Given the description of an element on the screen output the (x, y) to click on. 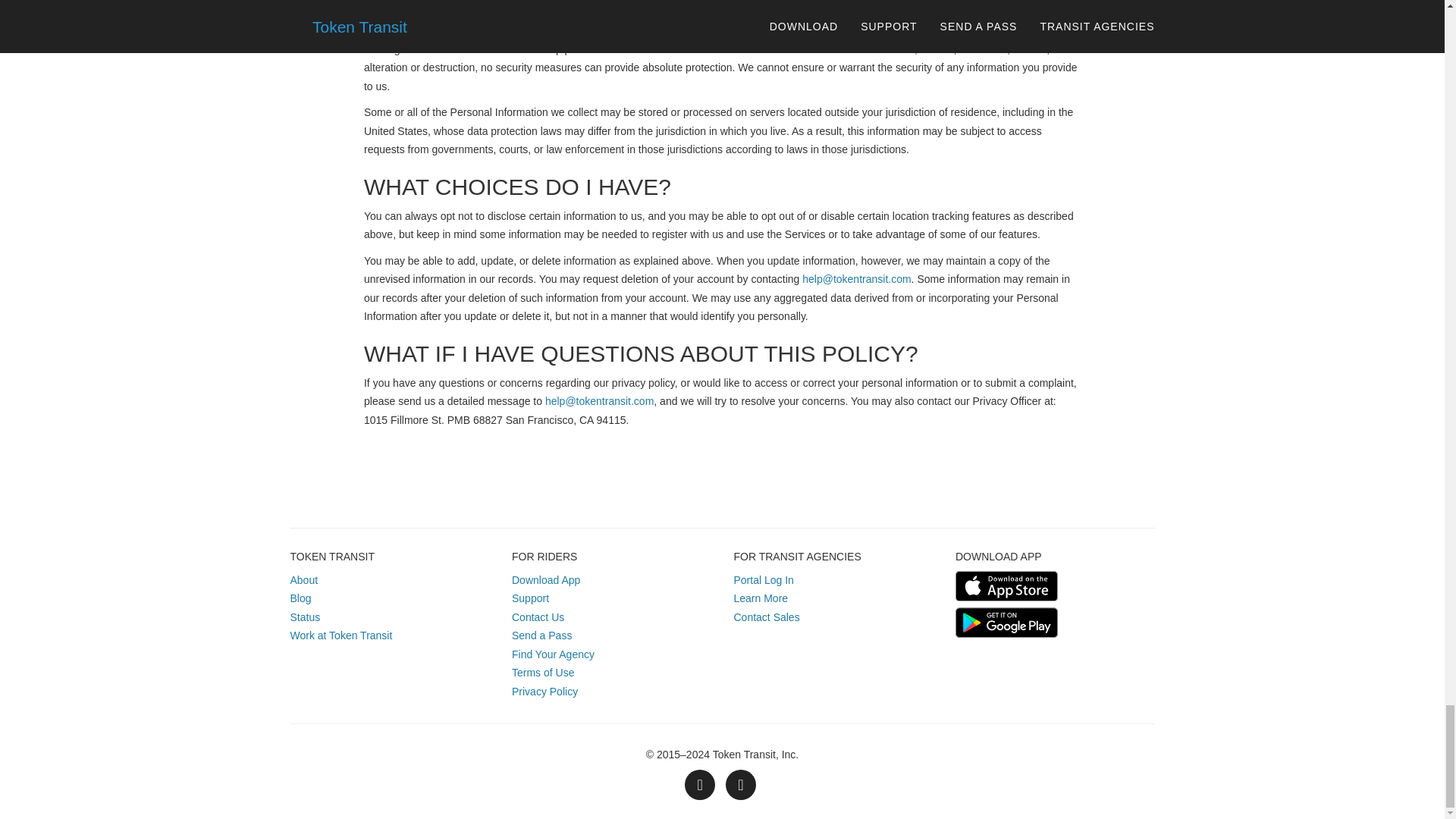
Terms of Use (542, 672)
Portal Log In (763, 580)
About (303, 580)
Support (530, 598)
Contact Us (538, 616)
Find Your Agency (553, 654)
Status (304, 616)
Download App (545, 580)
Send a Pass (542, 635)
Privacy Policy (545, 691)
Work at Token Transit (340, 635)
Blog (300, 598)
